Given the description of an element on the screen output the (x, y) to click on. 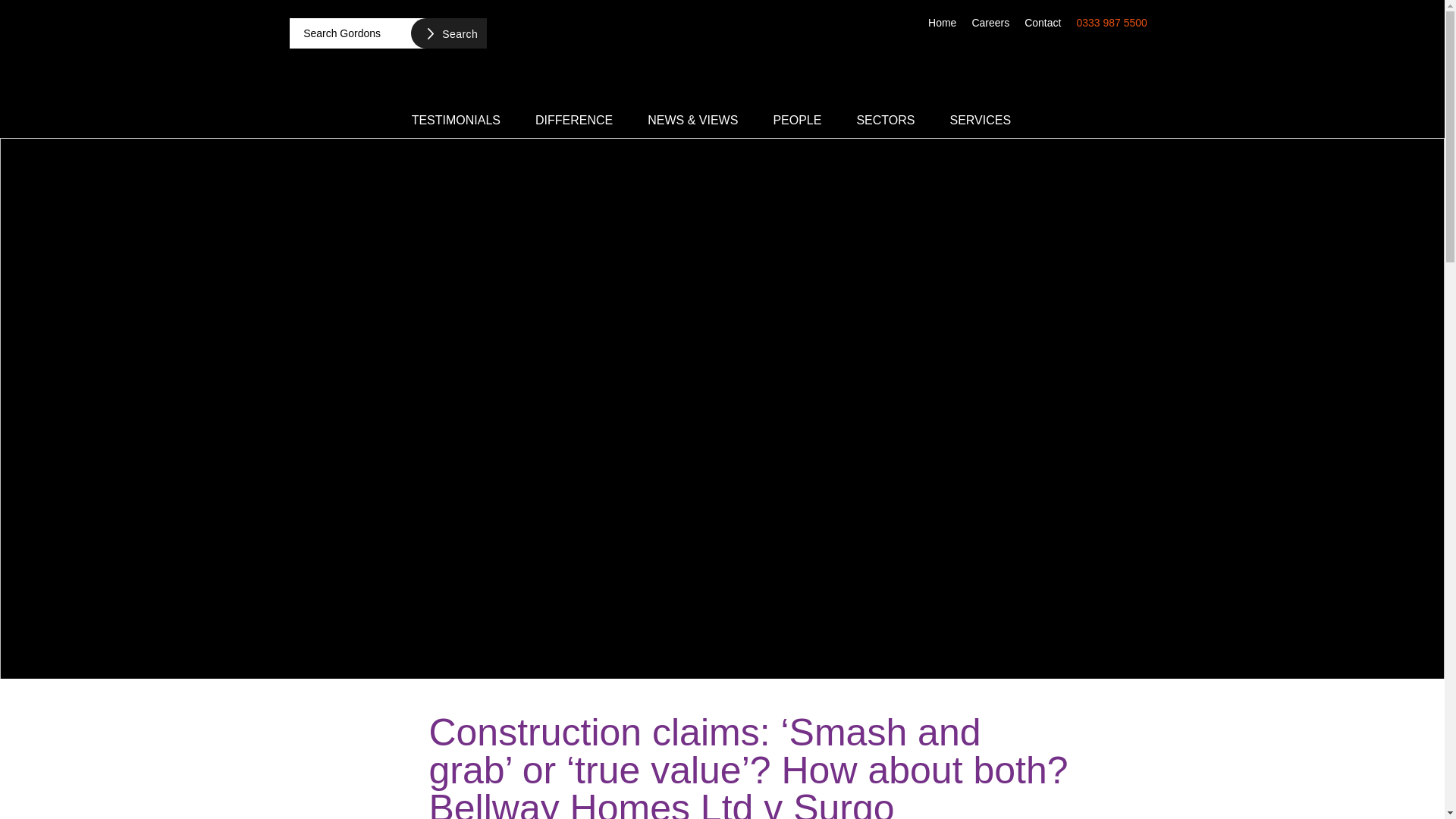
TESTIMONIALS (456, 119)
Search (448, 33)
Gordons LLP (721, 54)
Search (448, 33)
Contact (1042, 21)
Home (941, 21)
0333 987 5500 (1111, 21)
Careers (989, 21)
